Given the description of an element on the screen output the (x, y) to click on. 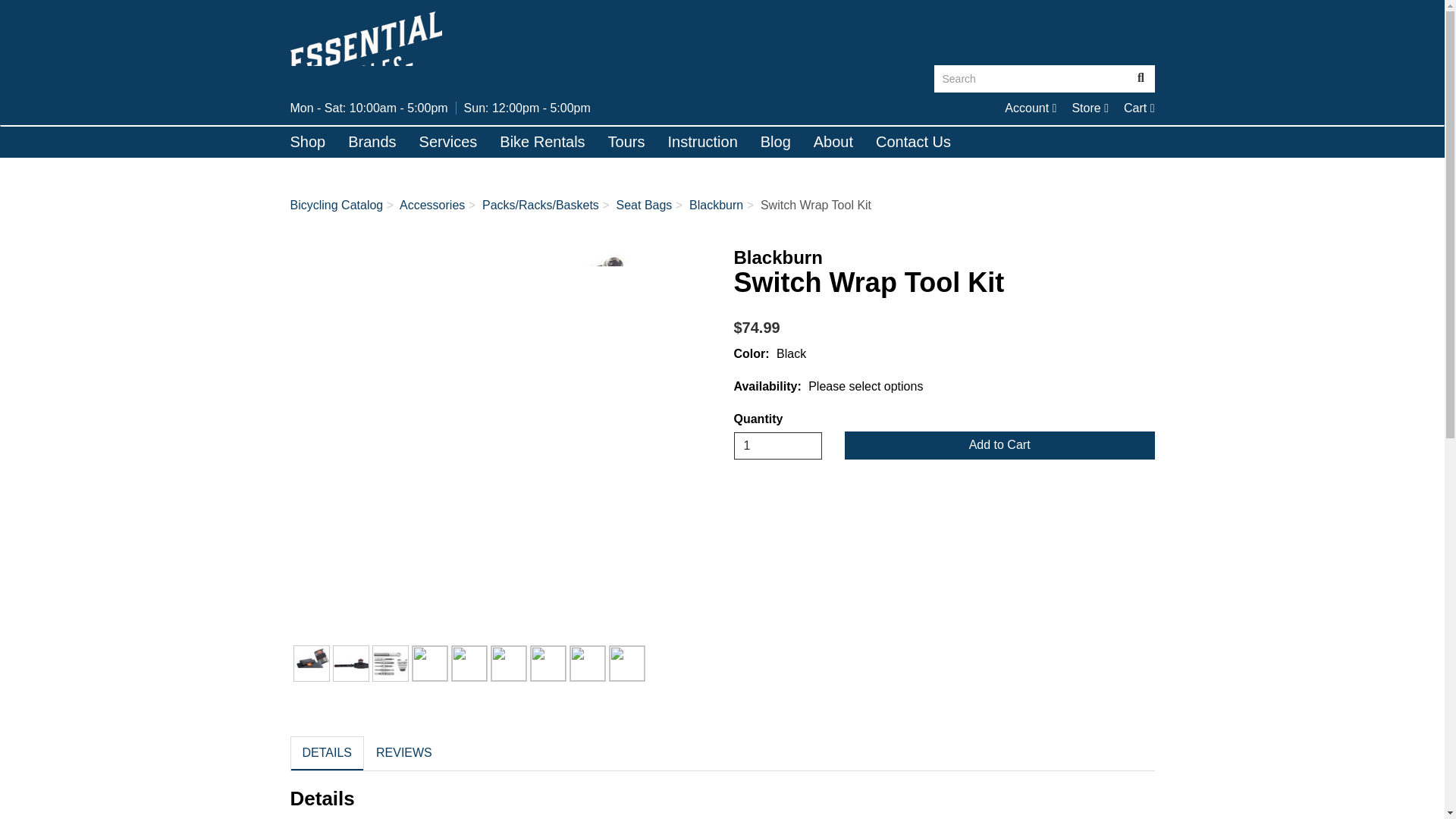
Store (1089, 107)
Account (1089, 107)
Search (1030, 107)
Color: Black (1030, 107)
1 (1031, 78)
Search (311, 663)
Shop (777, 445)
Blackburn Switch Wrap Tool Kit (1140, 78)
Cart (1139, 107)
Essential Cycles Home Page (308, 141)
